Given the description of an element on the screen output the (x, y) to click on. 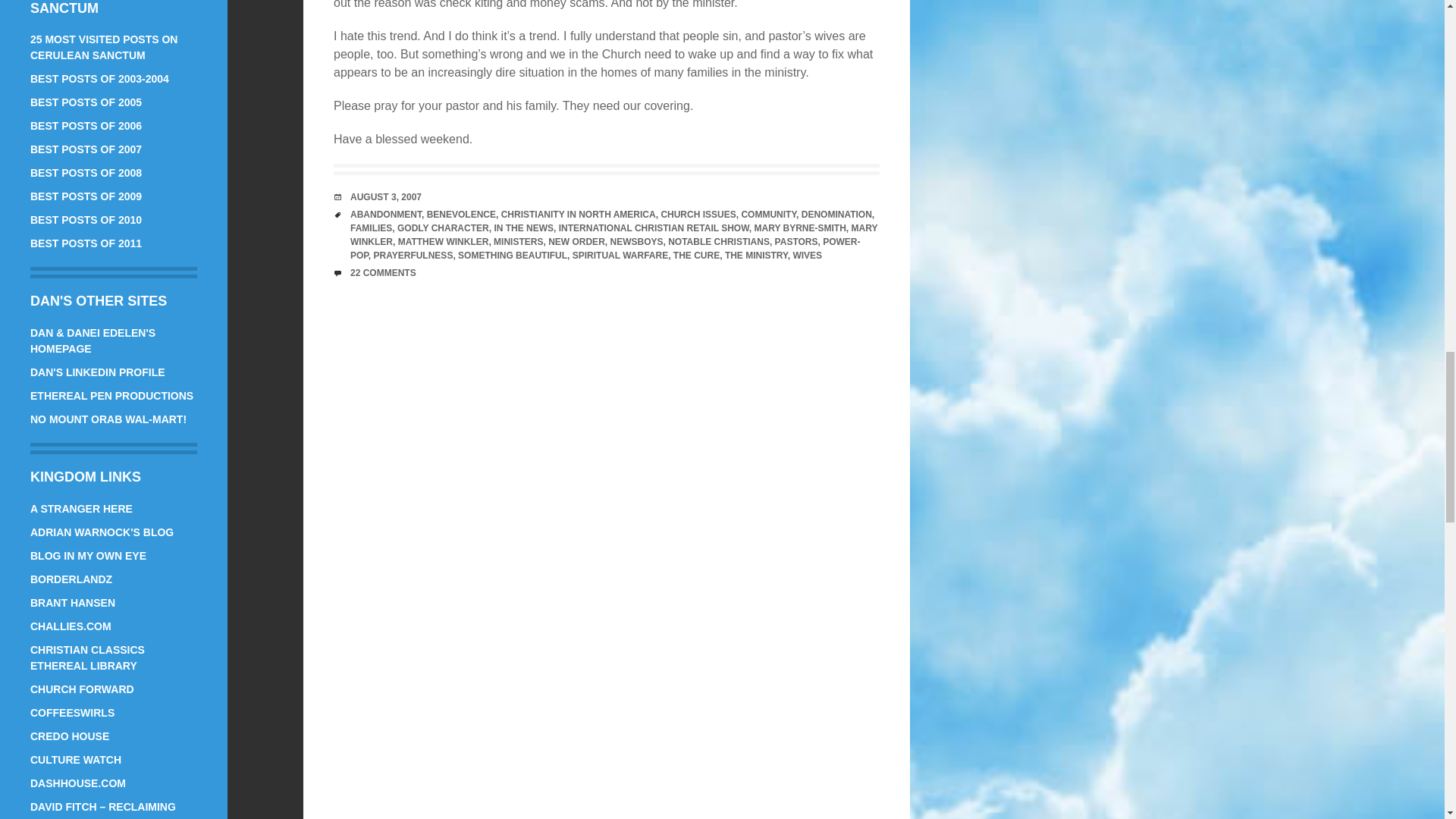
BEST POSTS OF 2011 (85, 243)
BEST POSTS OF 2007 (85, 149)
BEST POSTS OF 2008 (85, 173)
BEST POSTS OF 2003-2004 (99, 78)
25 MOST VISITED POSTS ON CERULEAN SANCTUM (103, 47)
BEST POSTS OF 2006 (85, 125)
BEST POSTS OF 2005 (85, 102)
DAN'S LINKEDIN PROFILE (97, 372)
BEST POSTS OF 2010 (85, 219)
BEST POSTS OF 2009 (85, 196)
